Given the description of an element on the screen output the (x, y) to click on. 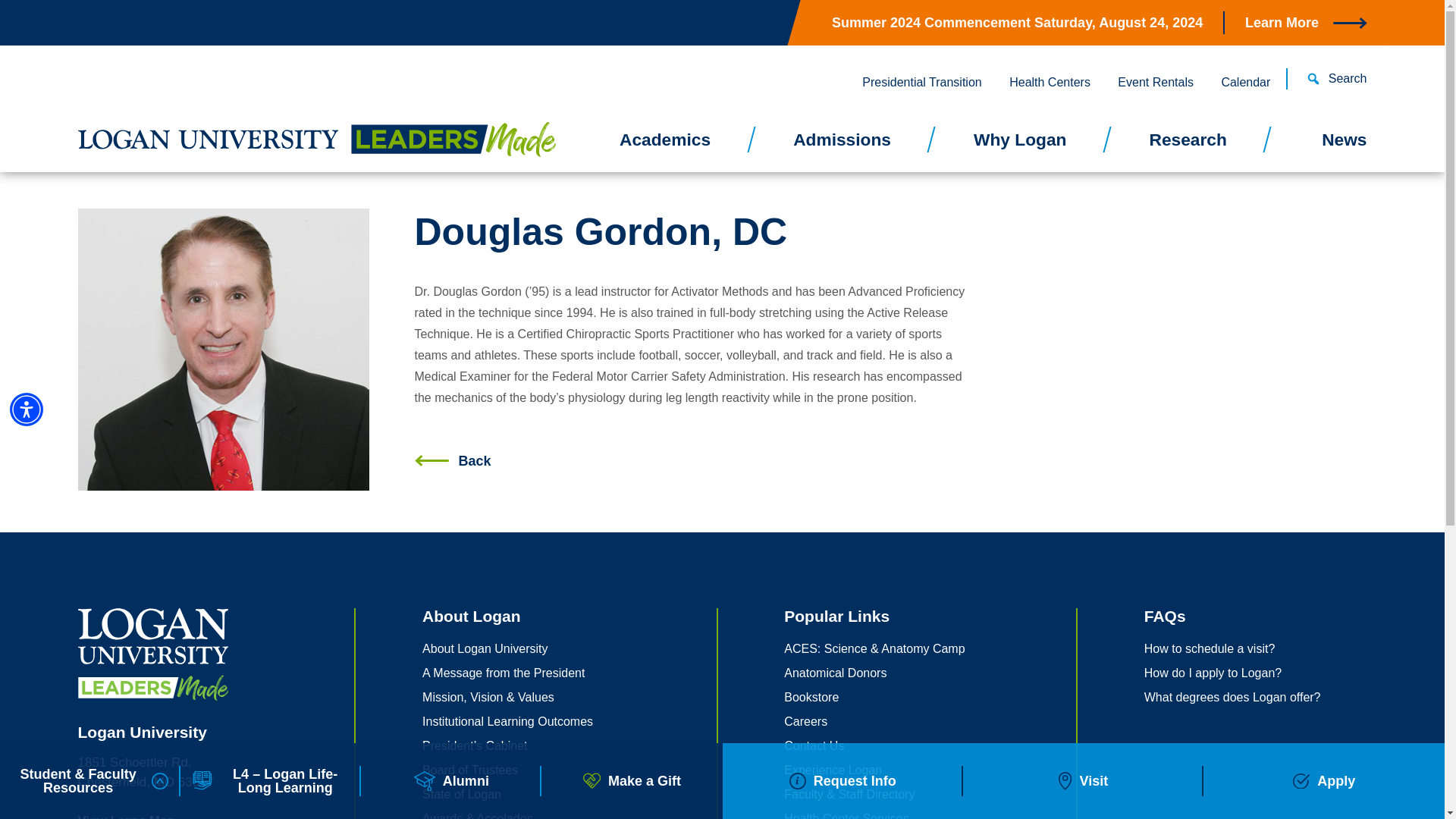
Event Rentals (1155, 82)
Academics (664, 146)
Learn More (1305, 22)
Accessibility Menu (26, 409)
Admissions (842, 146)
Health Centers (1049, 82)
Why Logan (1019, 146)
Search (1327, 78)
Presidential Transition (921, 82)
News (1317, 146)
